Given the description of an element on the screen output the (x, y) to click on. 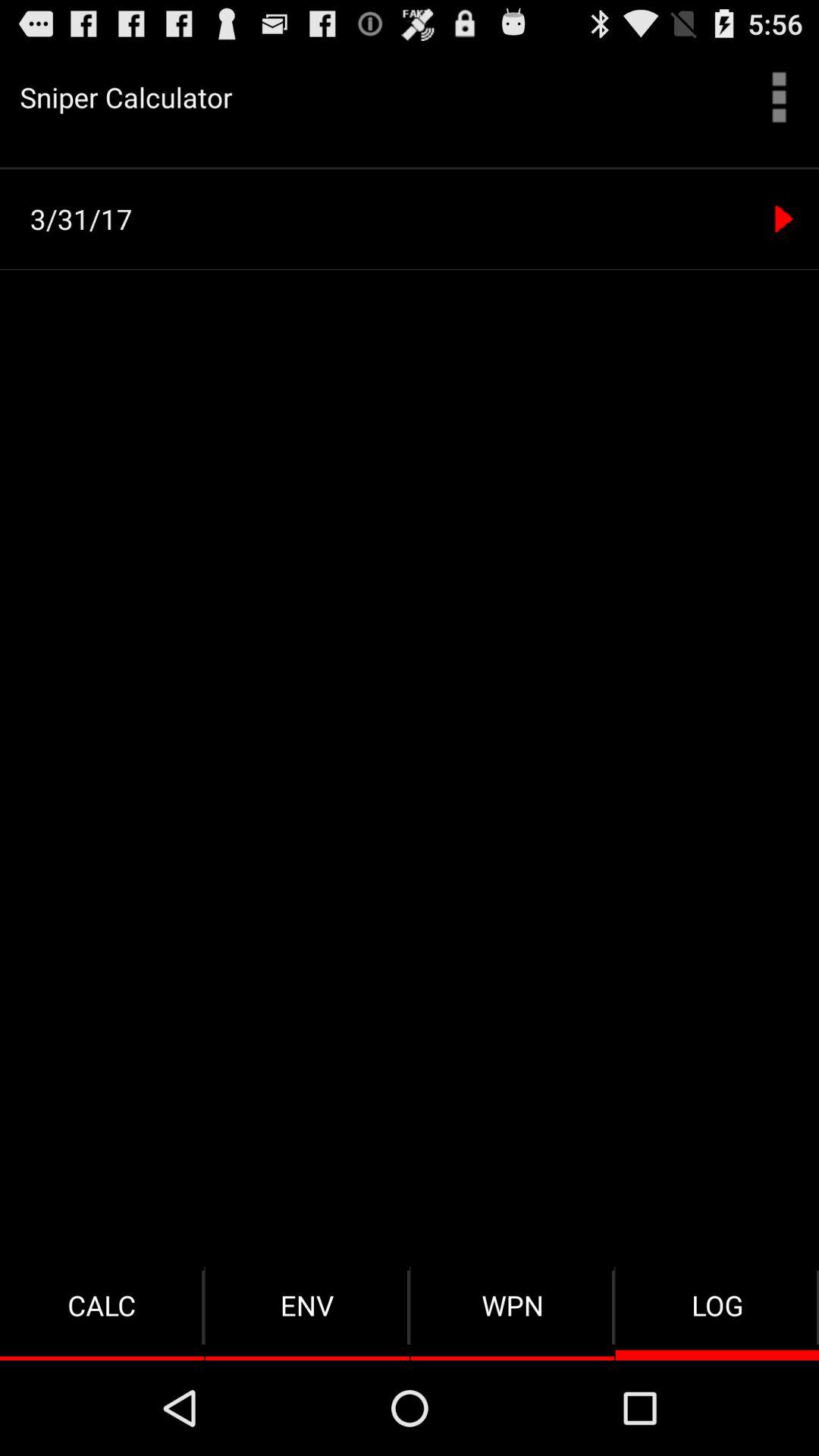
flip until 3/31/17 icon (414, 219)
